Given the description of an element on the screen output the (x, y) to click on. 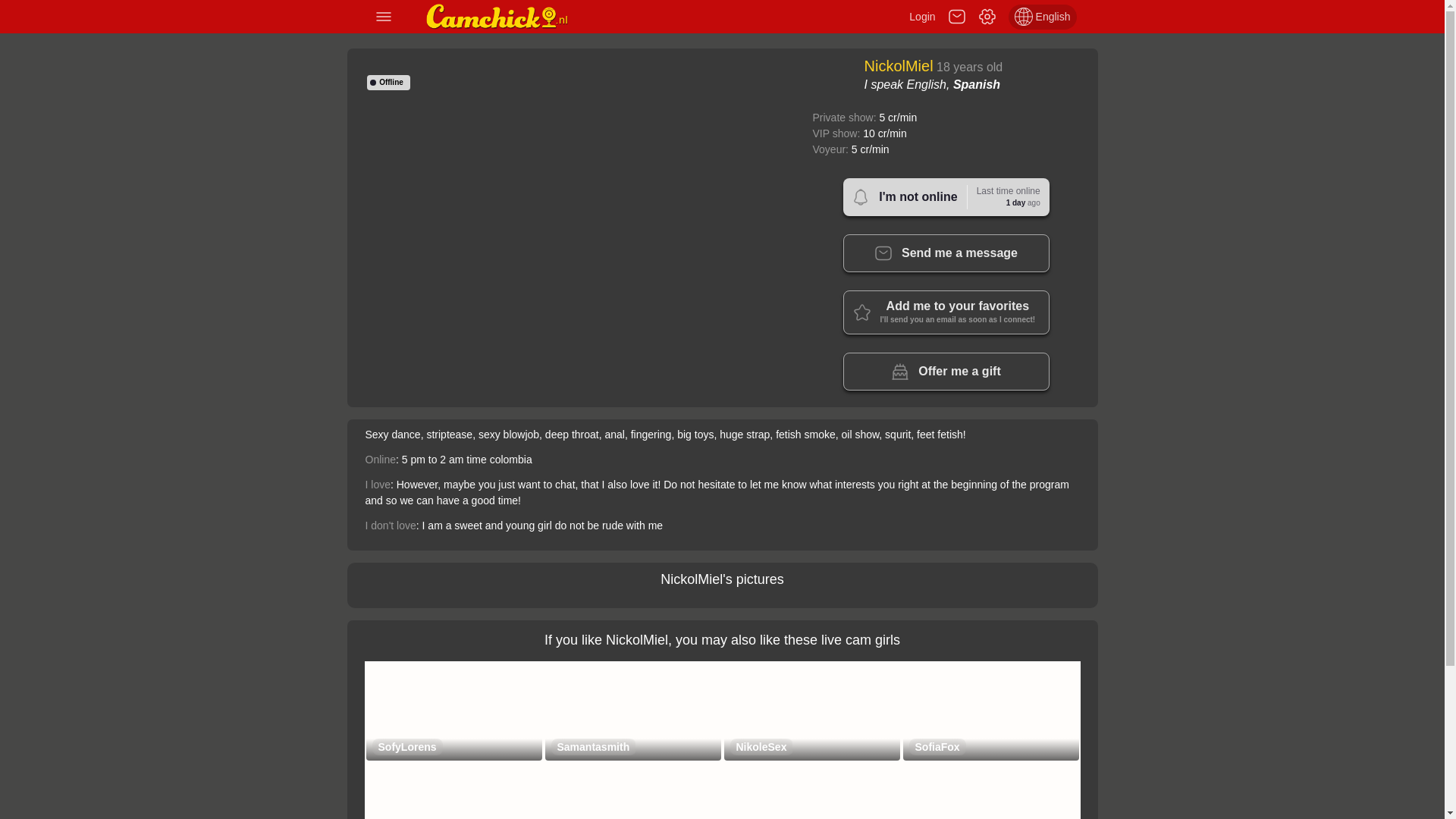
See all girls (501, 16)
SofyLorens (406, 746)
Send me a message (946, 197)
Offer me a gift (946, 252)
NikoleSex (946, 371)
Samantasmith (760, 746)
